Given the description of an element on the screen output the (x, y) to click on. 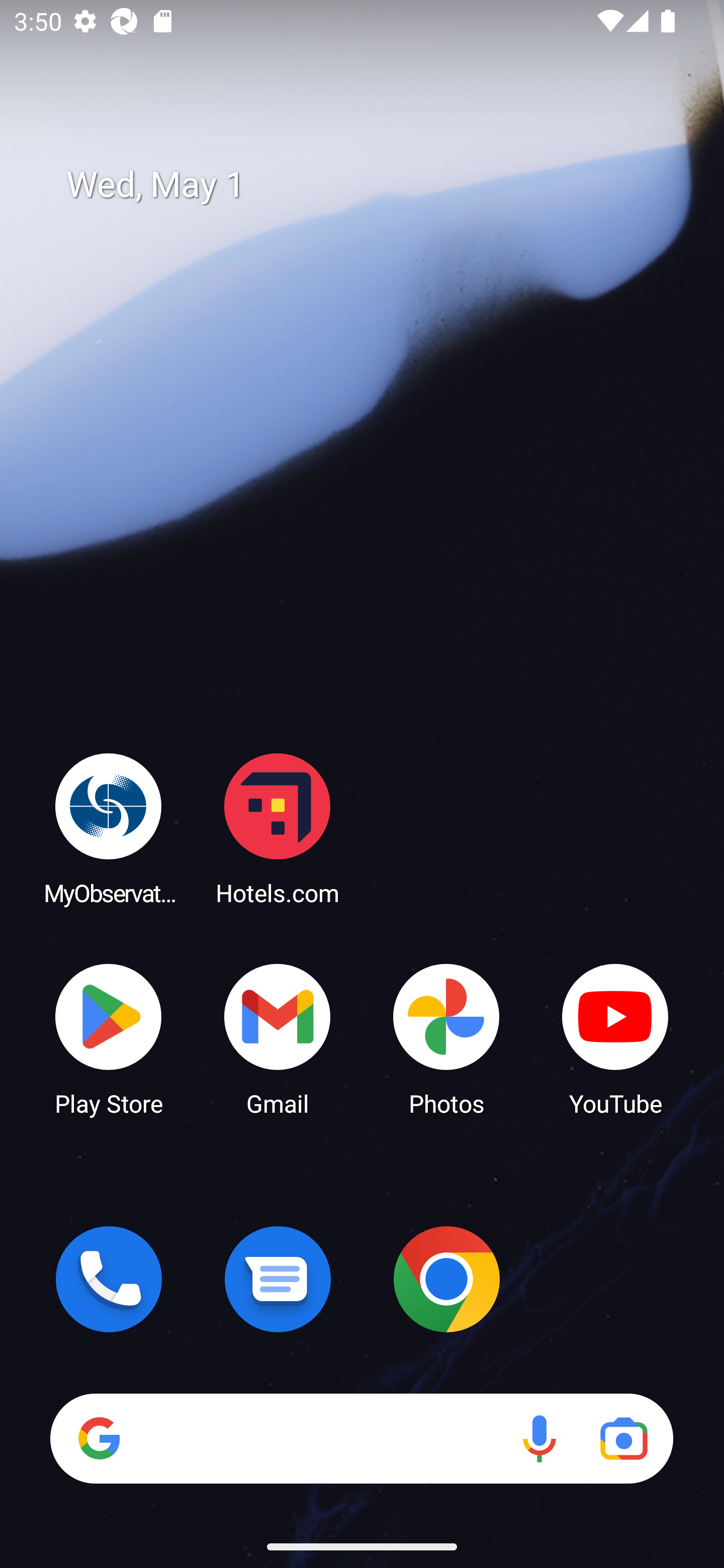
Wed, May 1 (375, 184)
MyObservatory (108, 828)
Hotels.com (277, 828)
Play Store (108, 1038)
Gmail (277, 1038)
Photos (445, 1038)
YouTube (615, 1038)
Phone (108, 1279)
Messages (277, 1279)
Chrome (446, 1279)
Search Voice search Google Lens (361, 1438)
Voice search (539, 1438)
Google Lens (623, 1438)
